Given the description of an element on the screen output the (x, y) to click on. 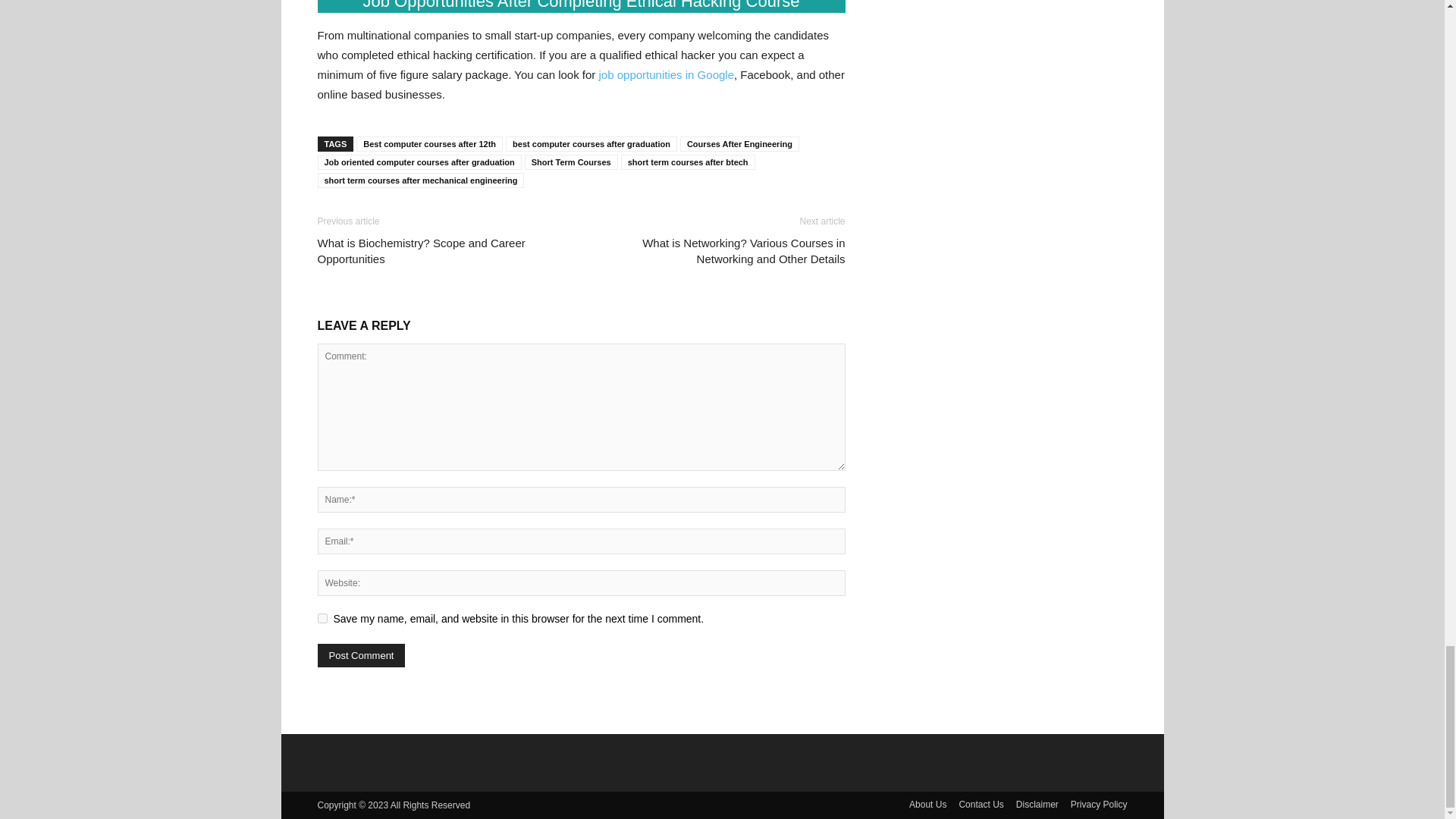
yes (321, 618)
Post Comment (360, 655)
